Given the description of an element on the screen output the (x, y) to click on. 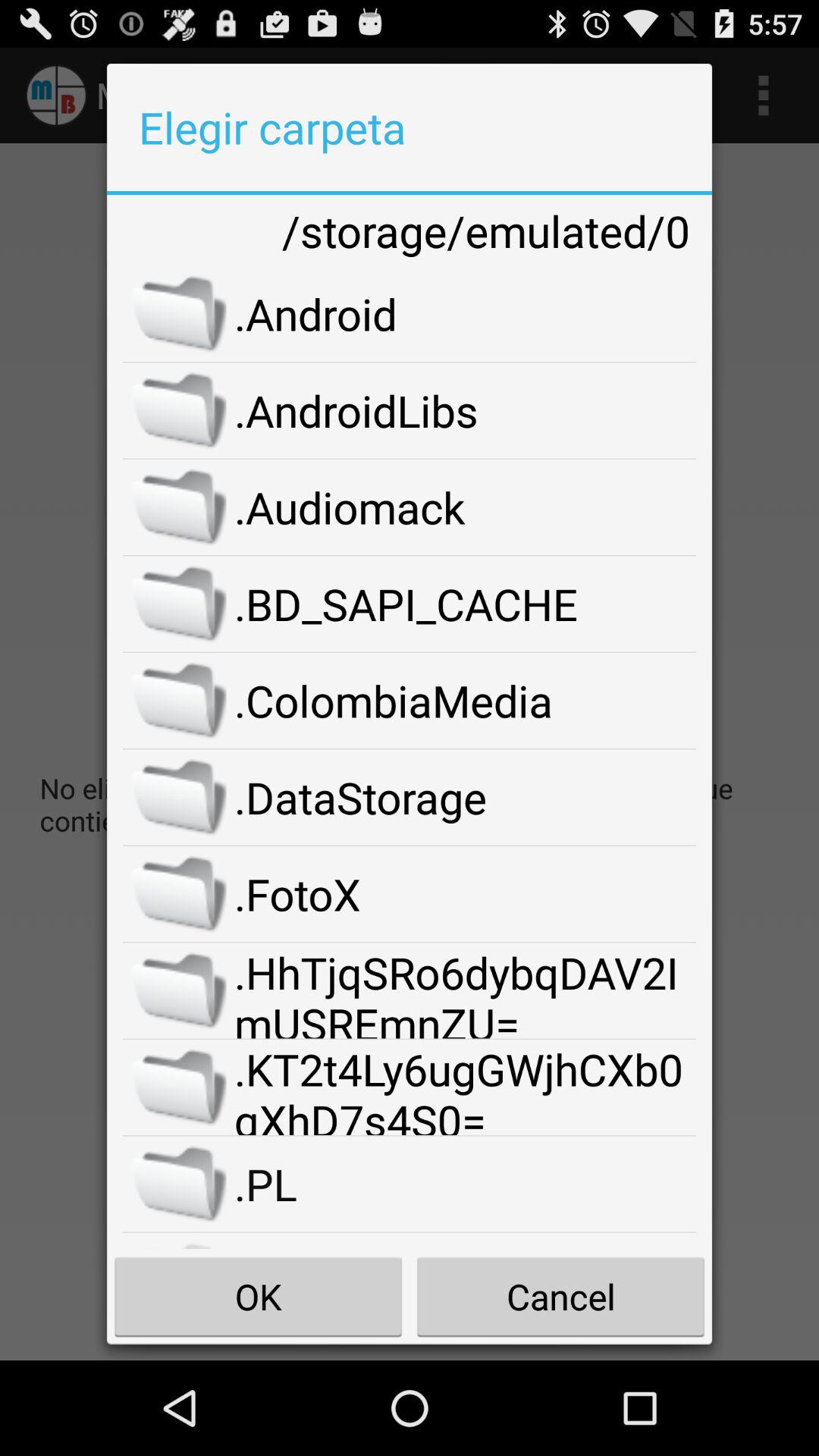
select .pl icon (465, 1183)
